Given the description of an element on the screen output the (x, y) to click on. 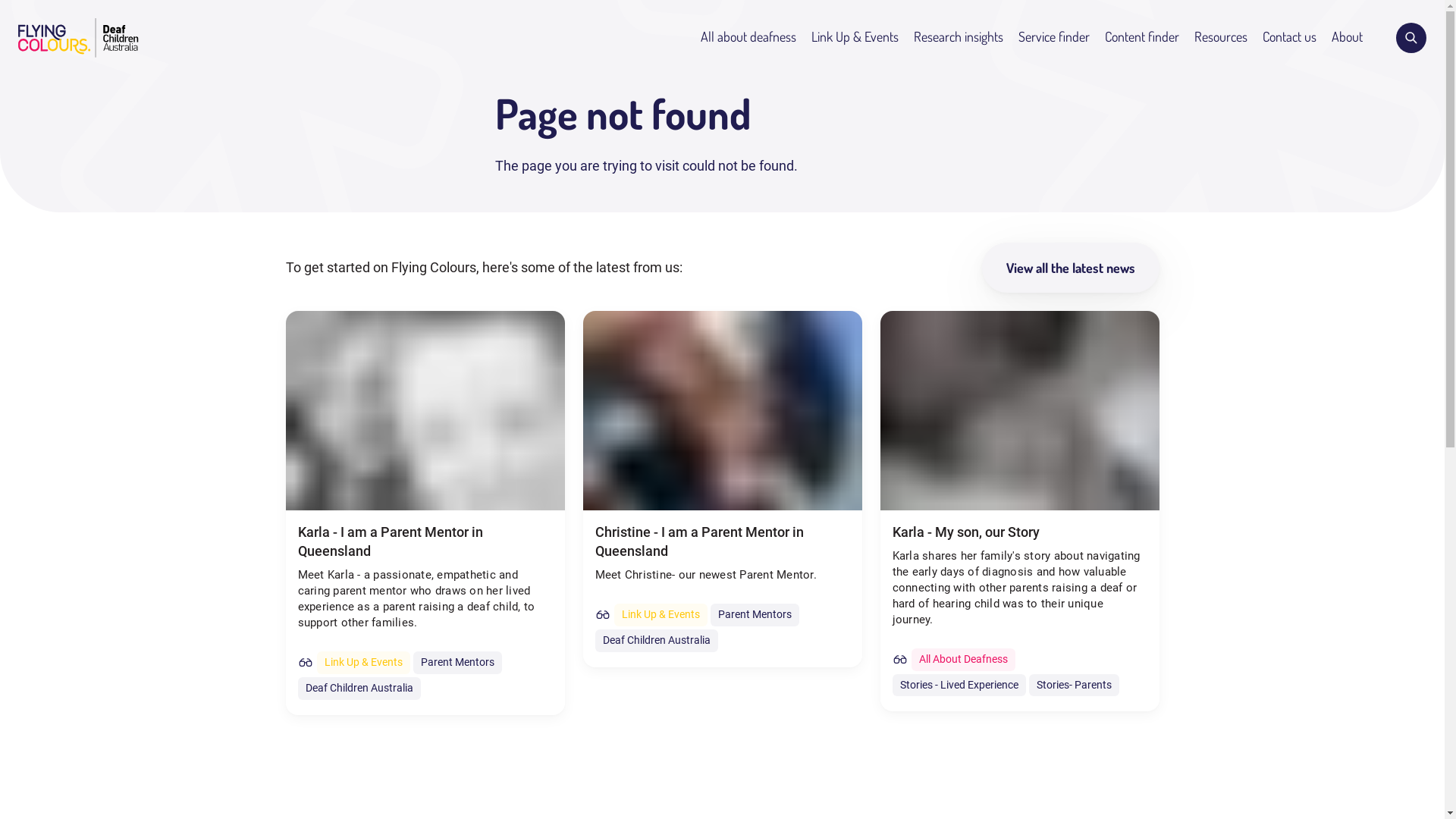
Link Up & Events Element type: text (660, 614)
Link Up & Events Element type: text (363, 662)
Deaf Children Australia Element type: text (358, 688)
Deaf Children Australia Element type: text (655, 640)
Link Up & Events Element type: text (854, 36)
Parent Mentors Element type: text (456, 662)
Parent Mentors Element type: text (753, 614)
Christine - I am a Parent Mentor in Queensland Element type: text (721, 541)
All about deafness Element type: text (748, 36)
Stories- Parents Element type: text (1073, 685)
Service finder Element type: text (1053, 36)
All About Deafness Element type: text (963, 659)
Karla - I am a Parent Mentor in Queensland Element type: text (424, 541)
Stories - Lived Experience Element type: text (958, 685)
About Element type: text (1346, 36)
Research insights Element type: text (958, 36)
Resources Element type: text (1220, 36)
Content finder Element type: text (1141, 36)
Contact us Element type: text (1289, 36)
Karla - My son, our Story Element type: text (1018, 531)
View all the latest news Element type: text (1069, 267)
